Given the description of an element on the screen output the (x, y) to click on. 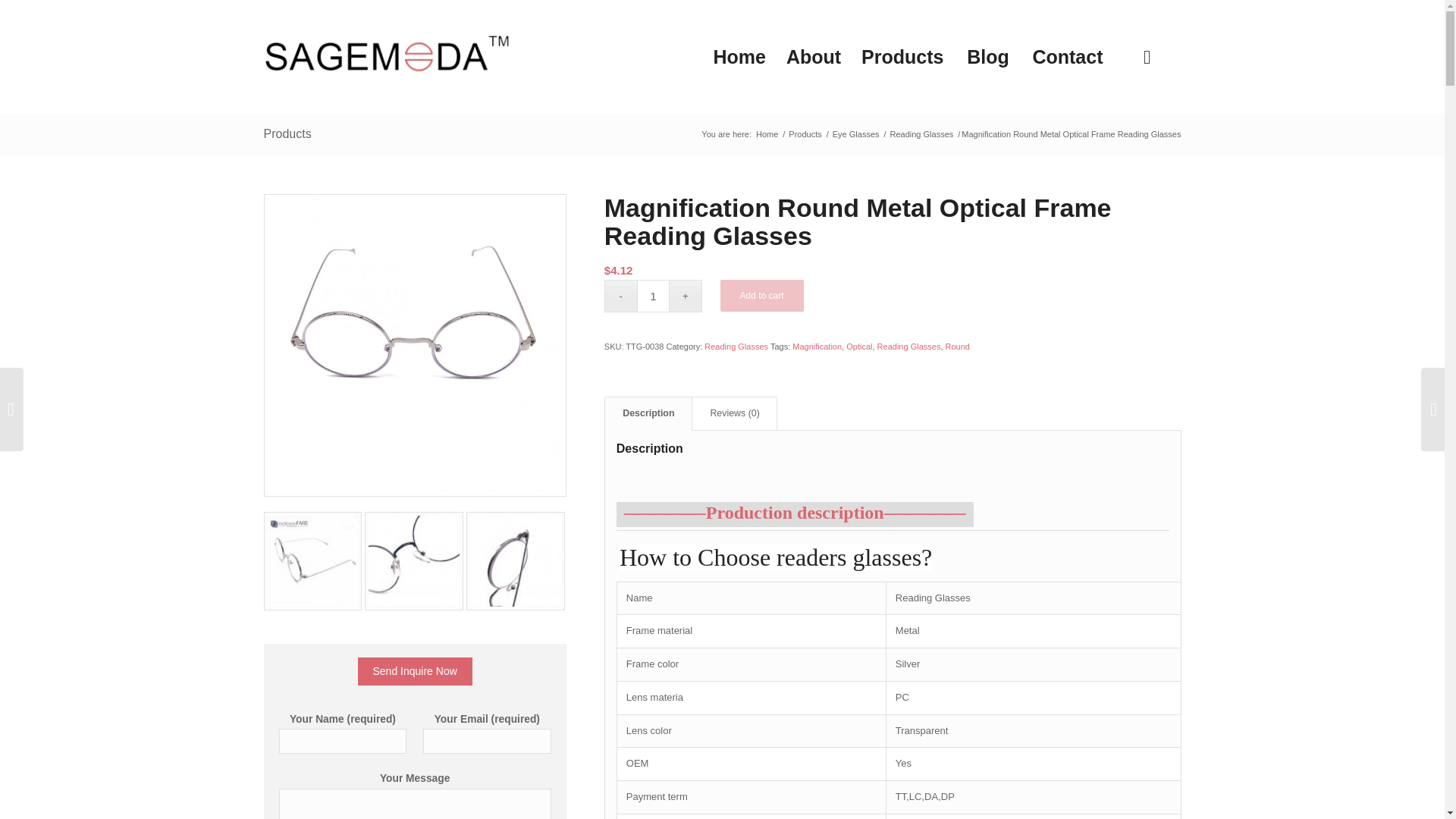
 Description  (648, 413)
Products (901, 56)
Sagemoda (767, 134)
Permanent Link: Products (287, 133)
Qty (653, 296)
Products (805, 134)
1 (653, 296)
- (620, 296)
Eye Glasses (855, 134)
Reading Glasses (922, 134)
